Given the description of an element on the screen output the (x, y) to click on. 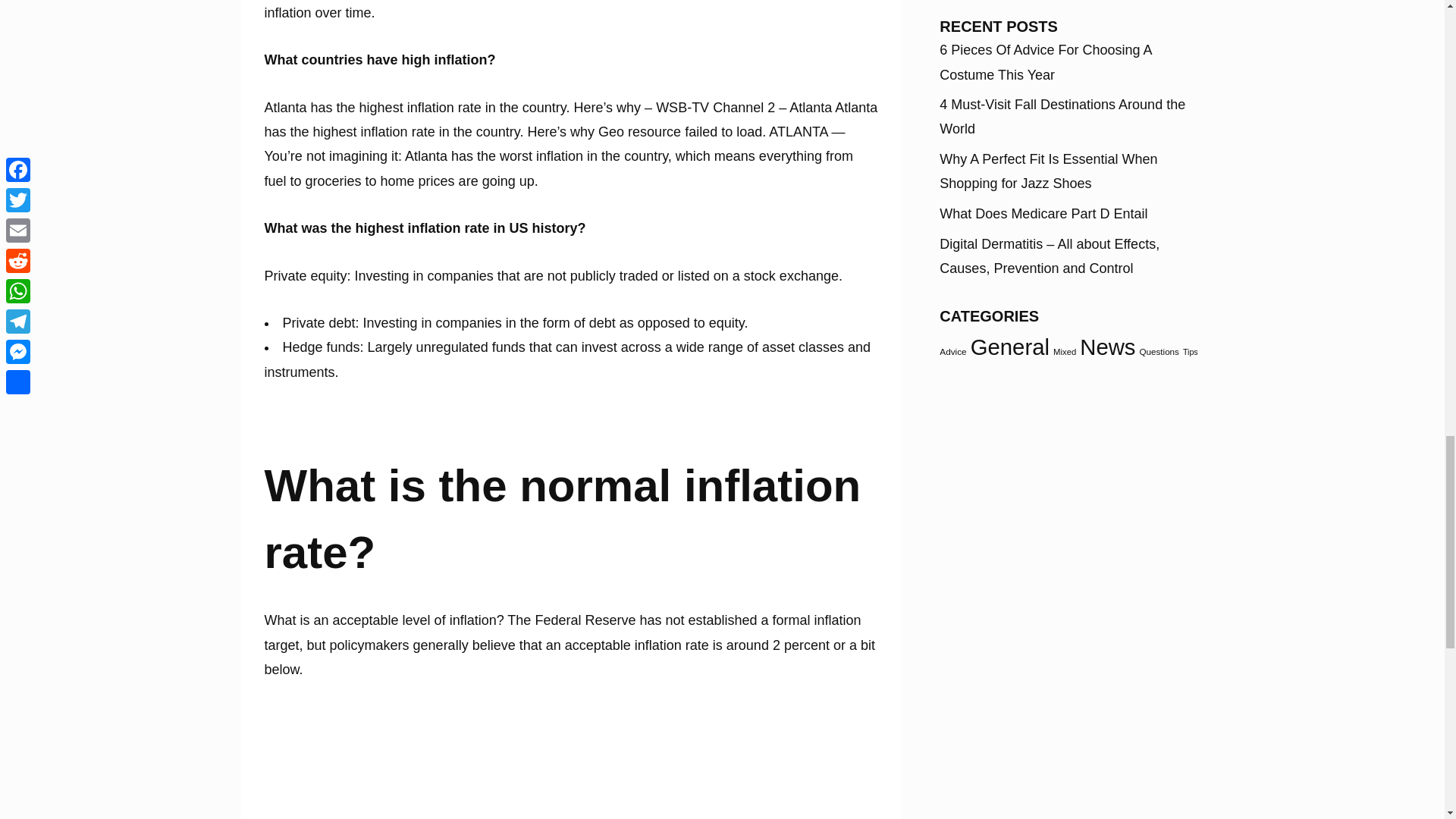
US inflation rate hits 30-year high (536, 762)
